Given the description of an element on the screen output the (x, y) to click on. 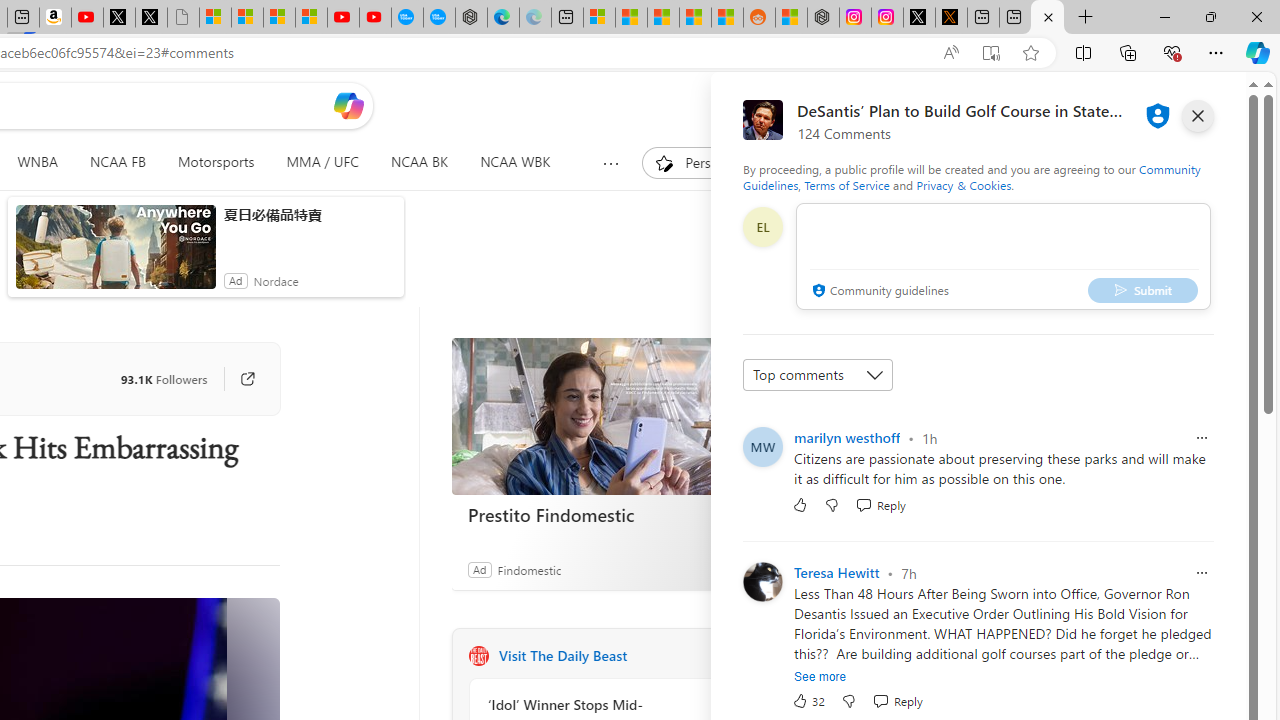
Sort comments by (817, 374)
Shanghai, China Weather trends | Microsoft Weather (727, 17)
Microsoft account | Microsoft Account Privacy Settings (599, 17)
Open Copilot (347, 105)
Shanghai, China weather forecast | Microsoft Weather (630, 17)
Visit The Daily Beast website (726, 655)
NCAA BK (419, 162)
comment-box (1003, 256)
Community Guidelines (971, 176)
Day 1: Arriving in Yemen (surreal to be here) - YouTube (87, 17)
marilyn westhoff (847, 437)
